Given the description of an element on the screen output the (x, y) to click on. 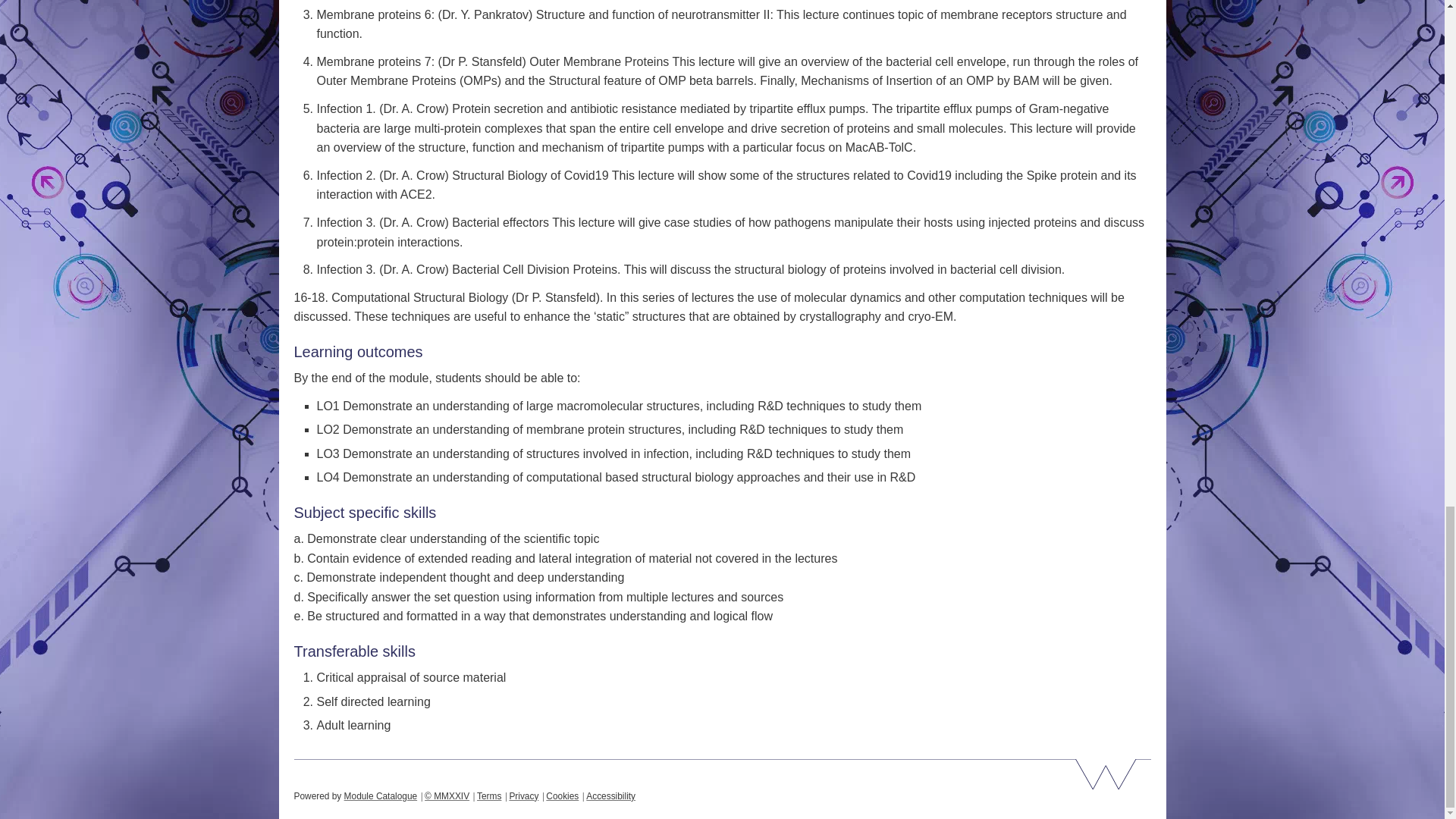
Terms (488, 796)
Cookies (562, 796)
Module Catalogue (380, 796)
Privacy (523, 796)
Accessibility (610, 796)
